Given the description of an element on the screen output the (x, y) to click on. 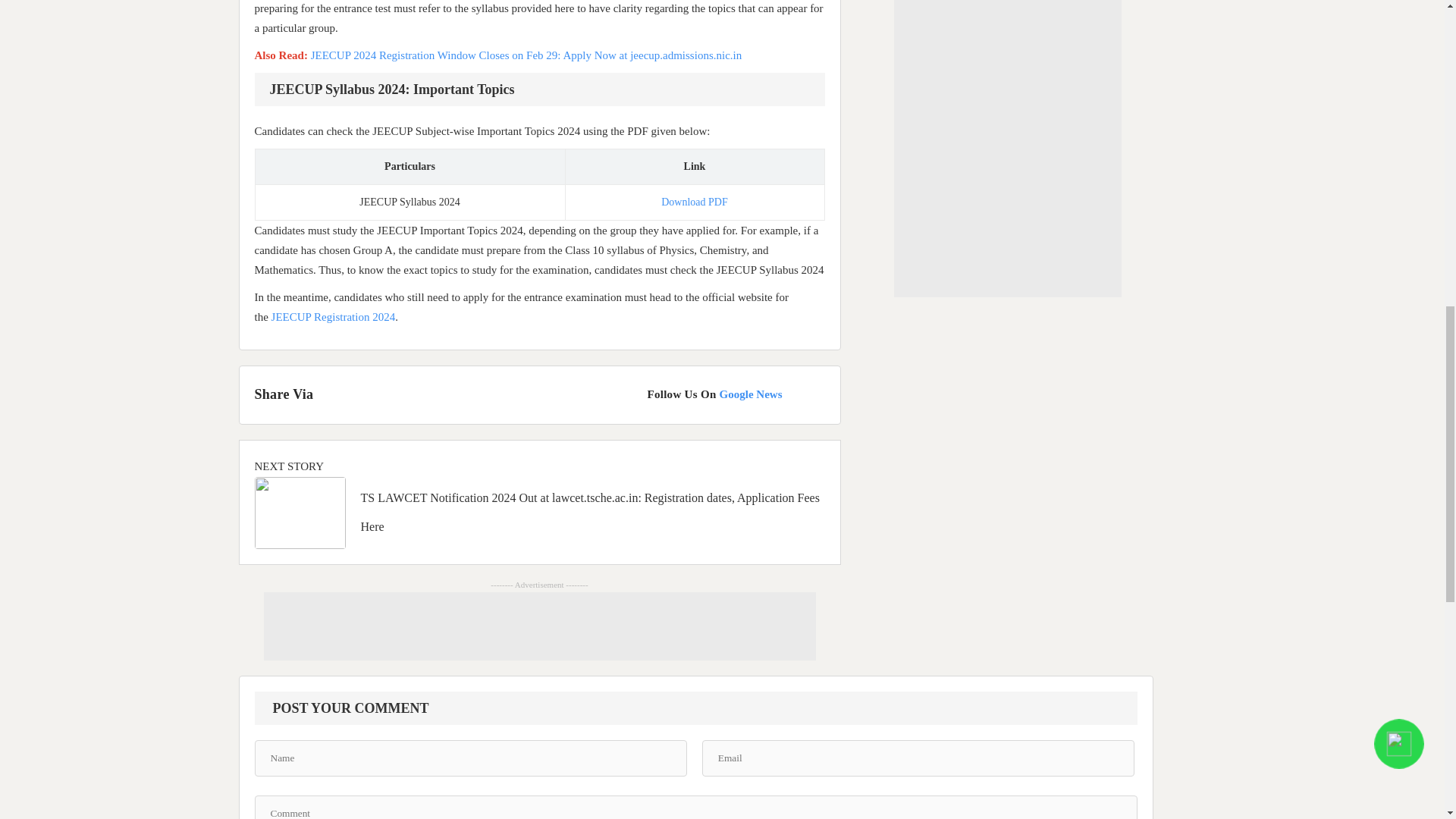
JEECUP Registration 2024 (333, 316)
Copy to clipboard (446, 394)
Follow Us On Google News (735, 394)
Download PDF (694, 202)
